Given the description of an element on the screen output the (x, y) to click on. 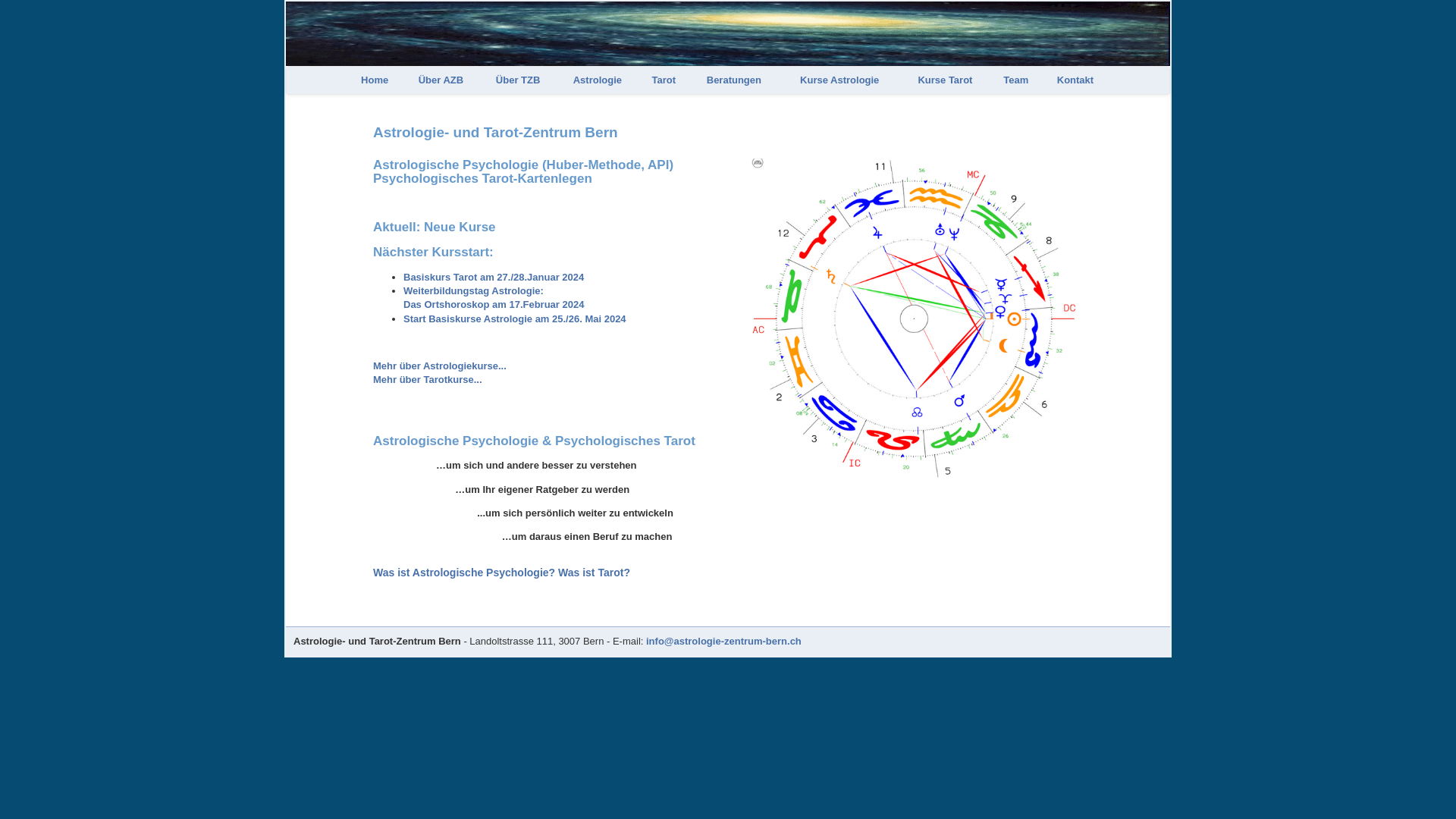
Kurse Tarot Element type: text (944, 80)
Astrologie Element type: text (597, 80)
Kontakt Element type: text (1074, 80)
Was ist Astrologische Psychologie? Element type: text (464, 572)
Basiskurs Tarot am 27./28.Januar 2024 Element type: text (493, 276)
Home Element type: text (374, 80)
info@astrologie-zentrum-bern.ch Element type: text (723, 640)
Team Element type: text (1015, 80)
Beratungen Element type: text (733, 80)
Start Basiskurse Astrologie am 25./26. Mai 2024 Element type: text (514, 318)
Was ist Tarot? Element type: text (594, 572)
Kurse Astrologie Element type: text (839, 80)
Tarot Element type: text (663, 80)
